Given the description of an element on the screen output the (x, y) to click on. 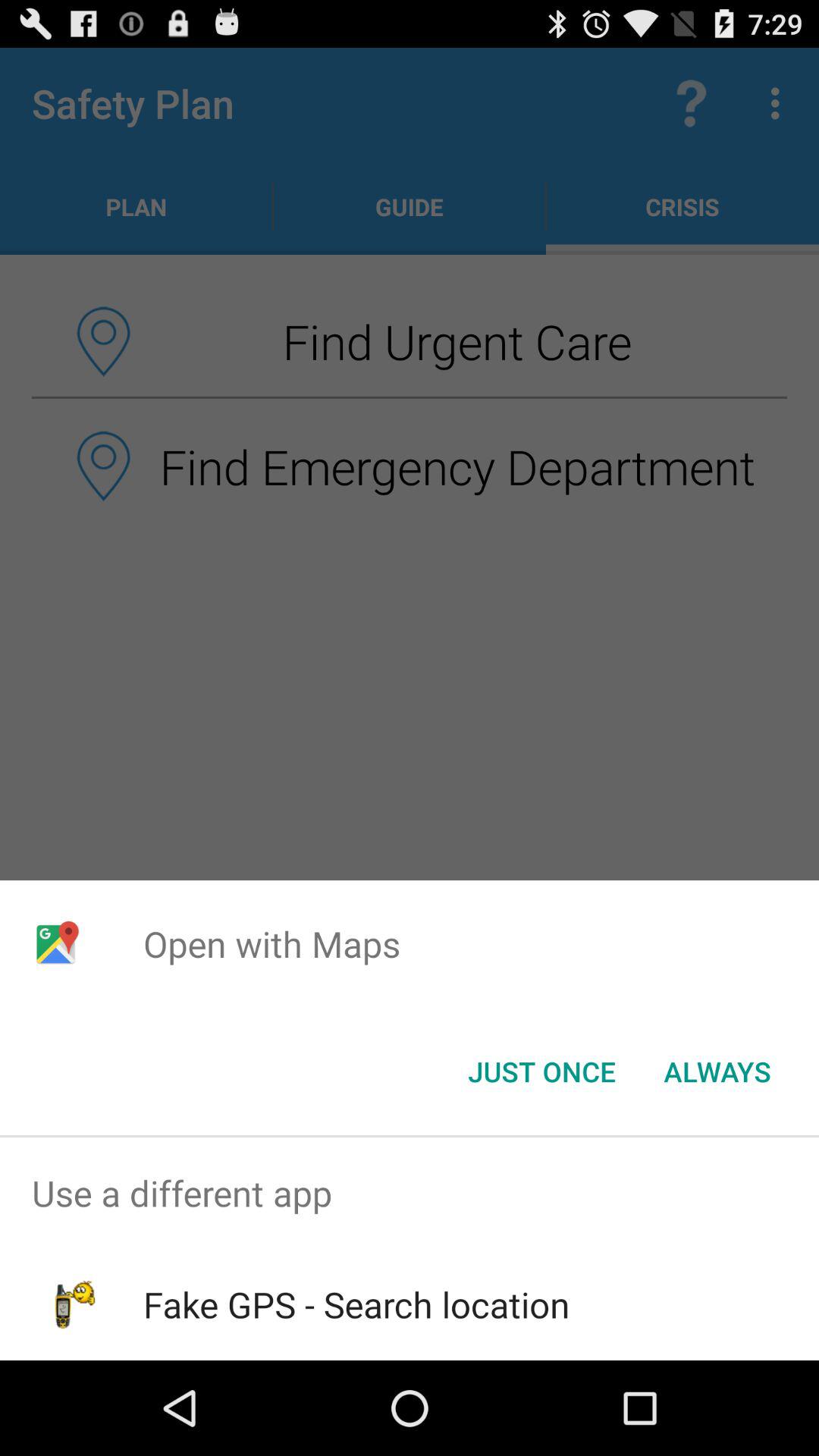
select the item below the open with maps item (541, 1071)
